Given the description of an element on the screen output the (x, y) to click on. 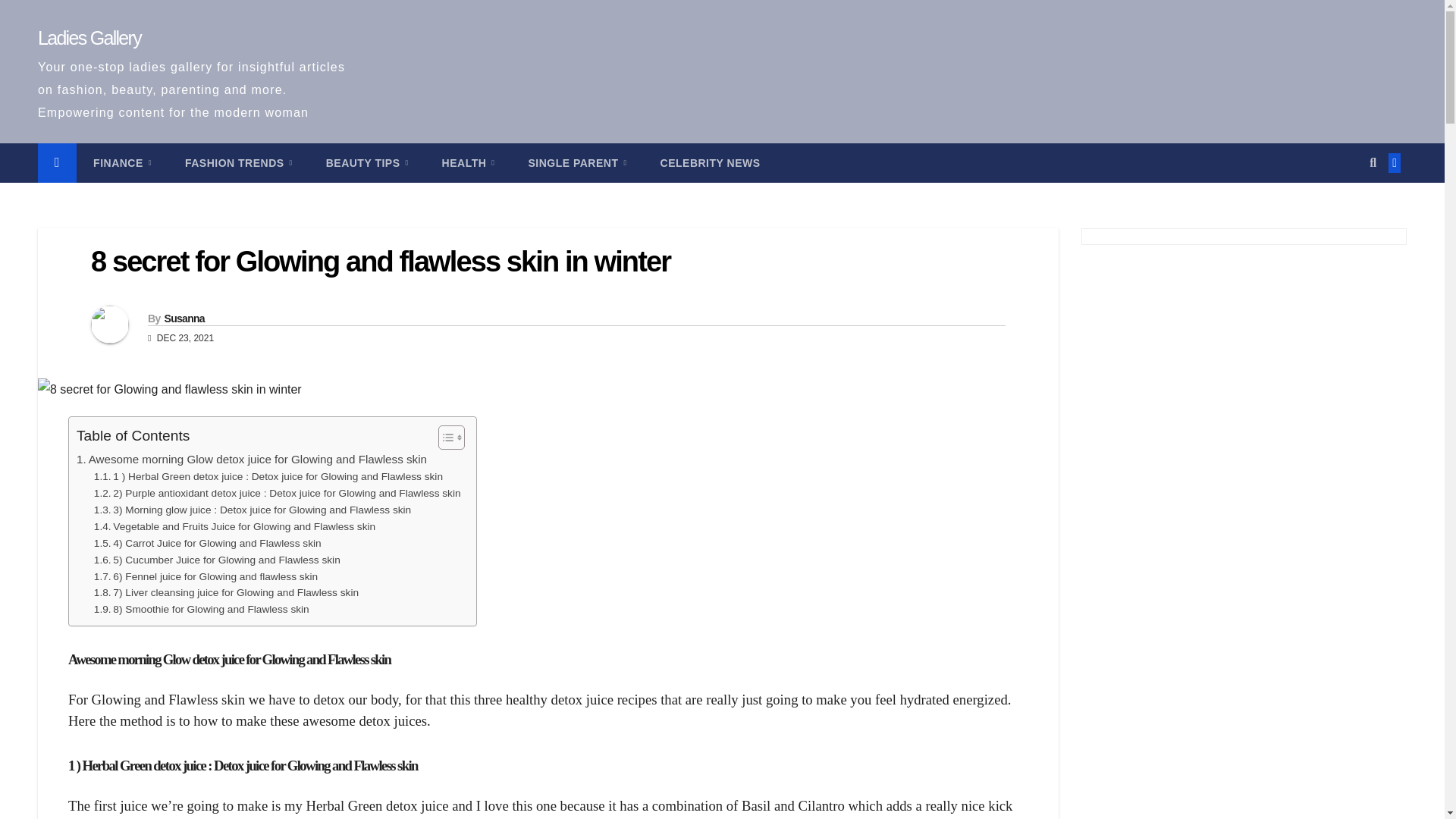
Finance (122, 162)
HEALTH (468, 162)
BEAUTY TIPS (366, 162)
FASHION TRENDS (238, 162)
Beauty Tips (366, 162)
SINGLE PARENT (577, 162)
Fashion Trends (238, 162)
FINANCE (122, 162)
CELEBRITY NEWS (710, 162)
Ladies Gallery (89, 37)
